Given the description of an element on the screen output the (x, y) to click on. 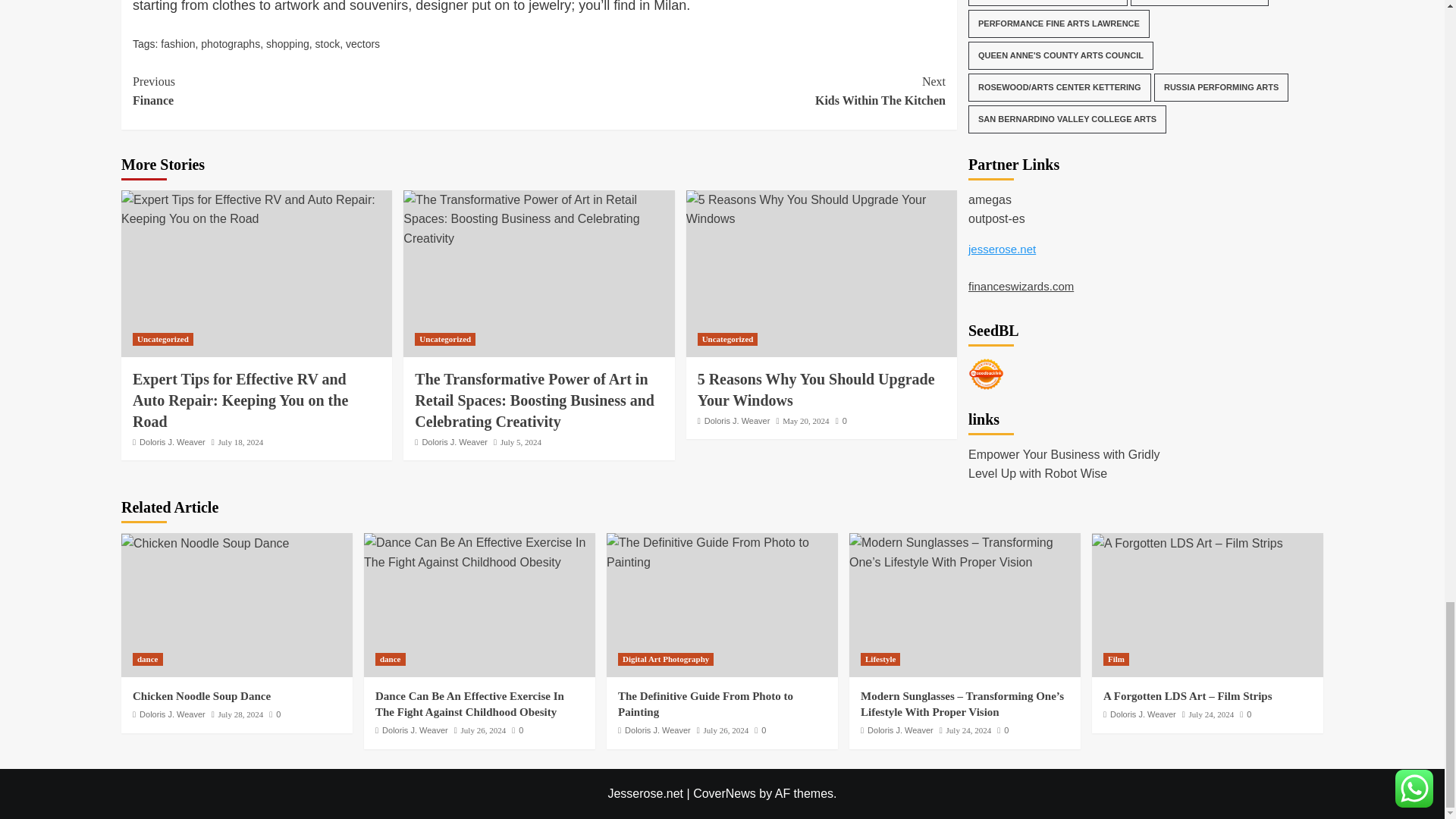
stock (327, 43)
Uncategorized (162, 338)
photographs (230, 43)
Chicken Noodle Soup Dance (204, 543)
fashion (177, 43)
